Given the description of an element on the screen output the (x, y) to click on. 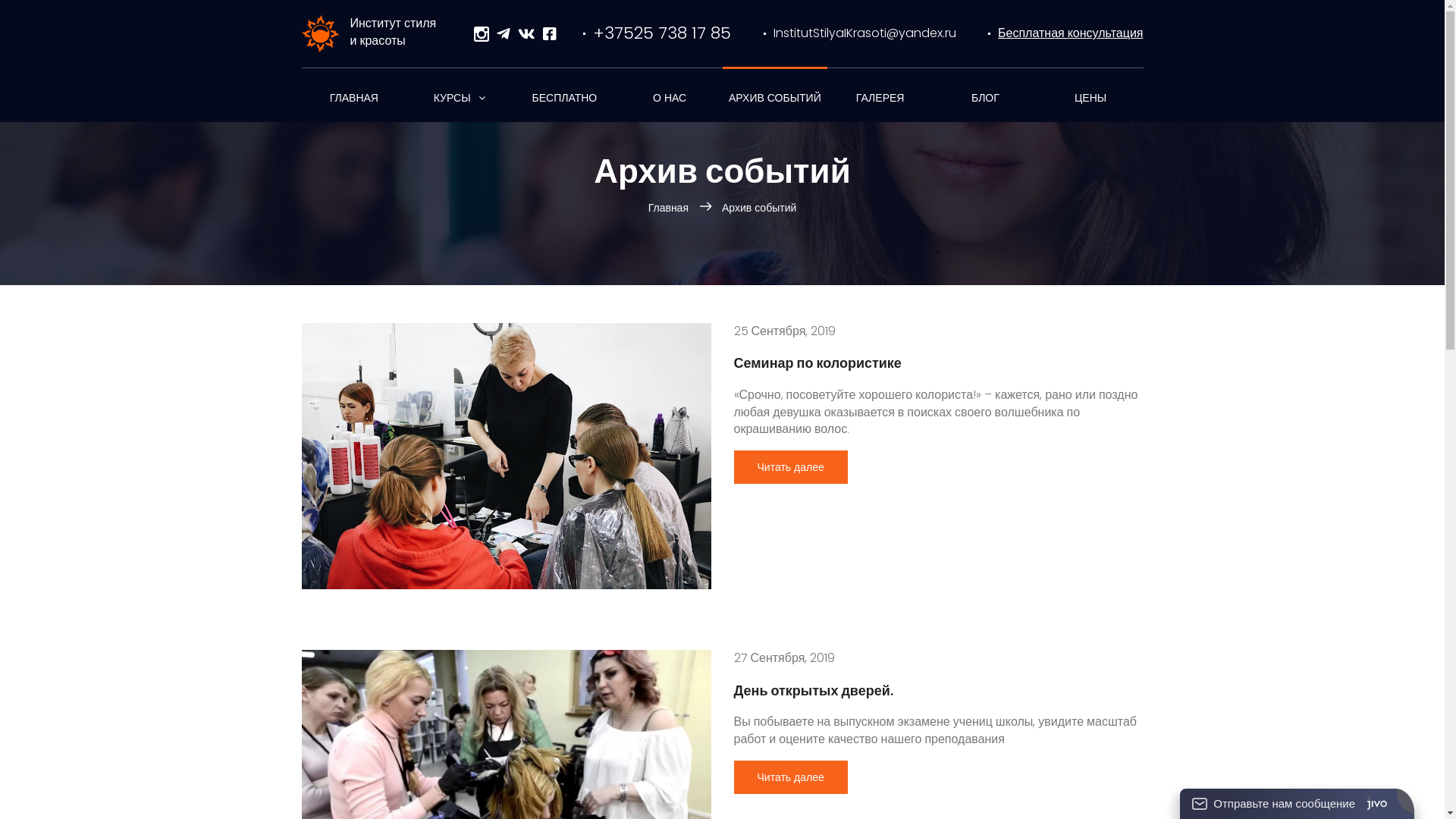
InstitutStilyaIKrasoti@yandex.ru Element type: text (859, 33)
InstitutStilyaIKrasoti@yandex.ru Element type: text (141, 298)
+37525 738 17 85 Element type: text (657, 33)
